Given the description of an element on the screen output the (x, y) to click on. 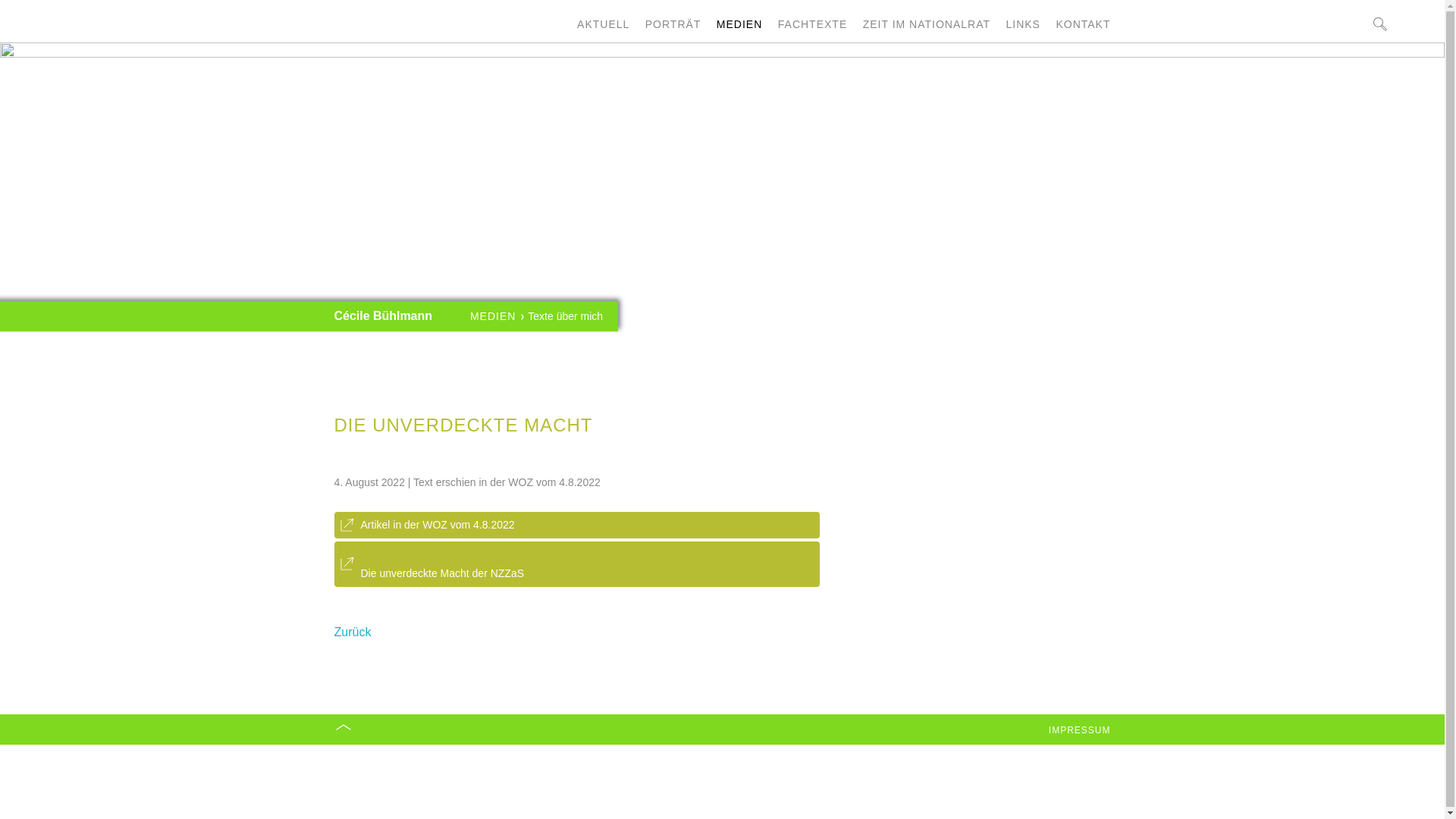
FACHTEXTE Element type: text (812, 24)
LINKS Element type: text (1022, 24)
MEDIEN Element type: text (492, 316)
ZEIT IM NATIONALRAT Element type: text (926, 24)
Die unverdeckte Macht der NZZaS Element type: text (442, 573)
IMPRESSUM Element type: text (1079, 728)
Artikel in der WOZ vom 4.8.2022 Element type: text (437, 524)
KONTAKT Element type: text (1082, 24)
Nach oben Element type: hover (342, 729)
  Element type: text (57, 42)
AKTUELL Element type: text (603, 24)
MEDIEN Element type: text (739, 24)
